Given the description of an element on the screen output the (x, y) to click on. 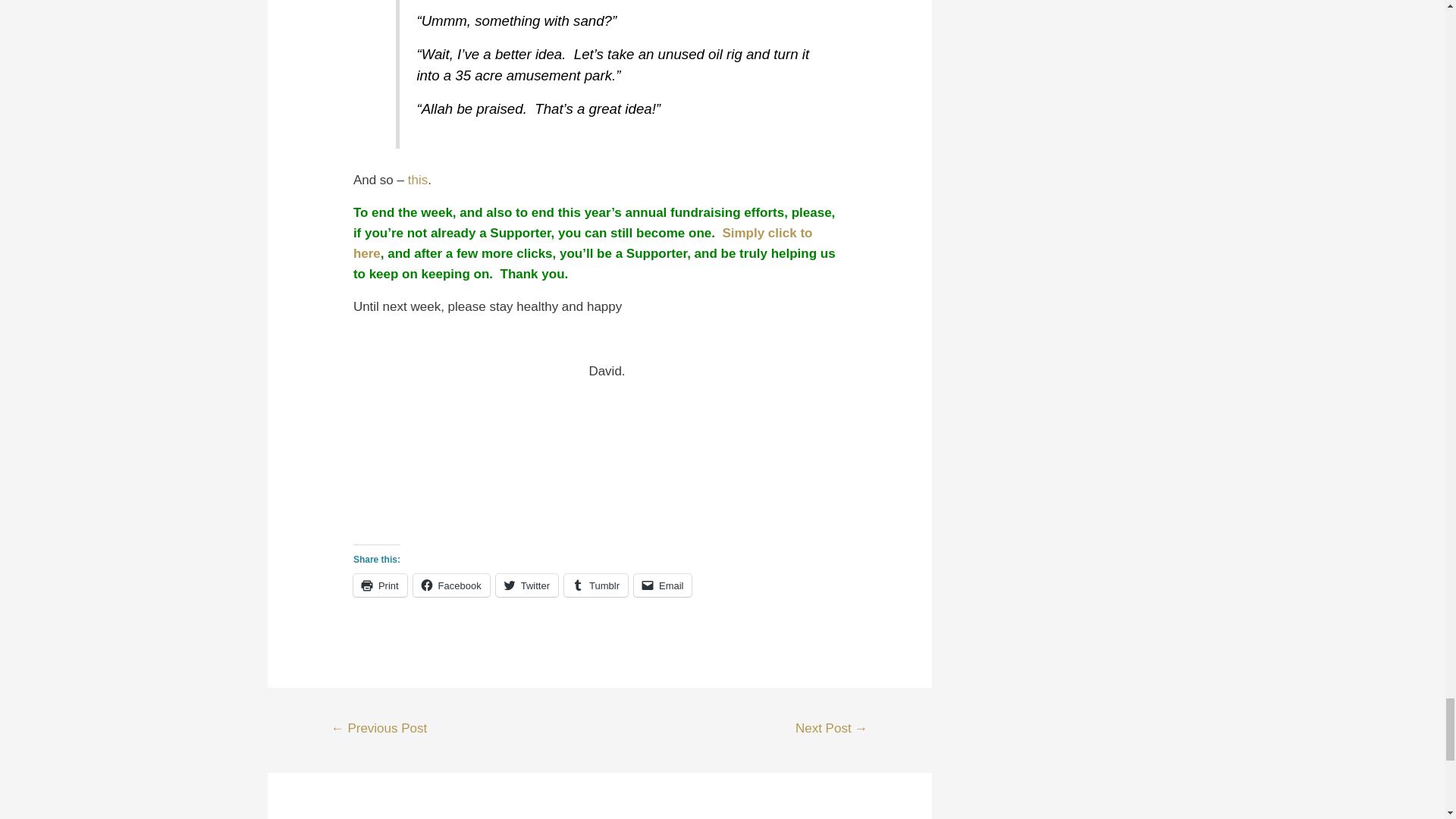
Covid-19 Diary :  Sunday 24 October, 2021 (831, 729)
Covid-19 Diary :  Thursday 21 October, 2021 (378, 729)
Click to email a link to a friend (663, 585)
Click to share on Facebook (451, 585)
Click to print (380, 585)
Click to share on Tumblr (595, 585)
Click to share on Twitter (526, 585)
